Given the description of an element on the screen output the (x, y) to click on. 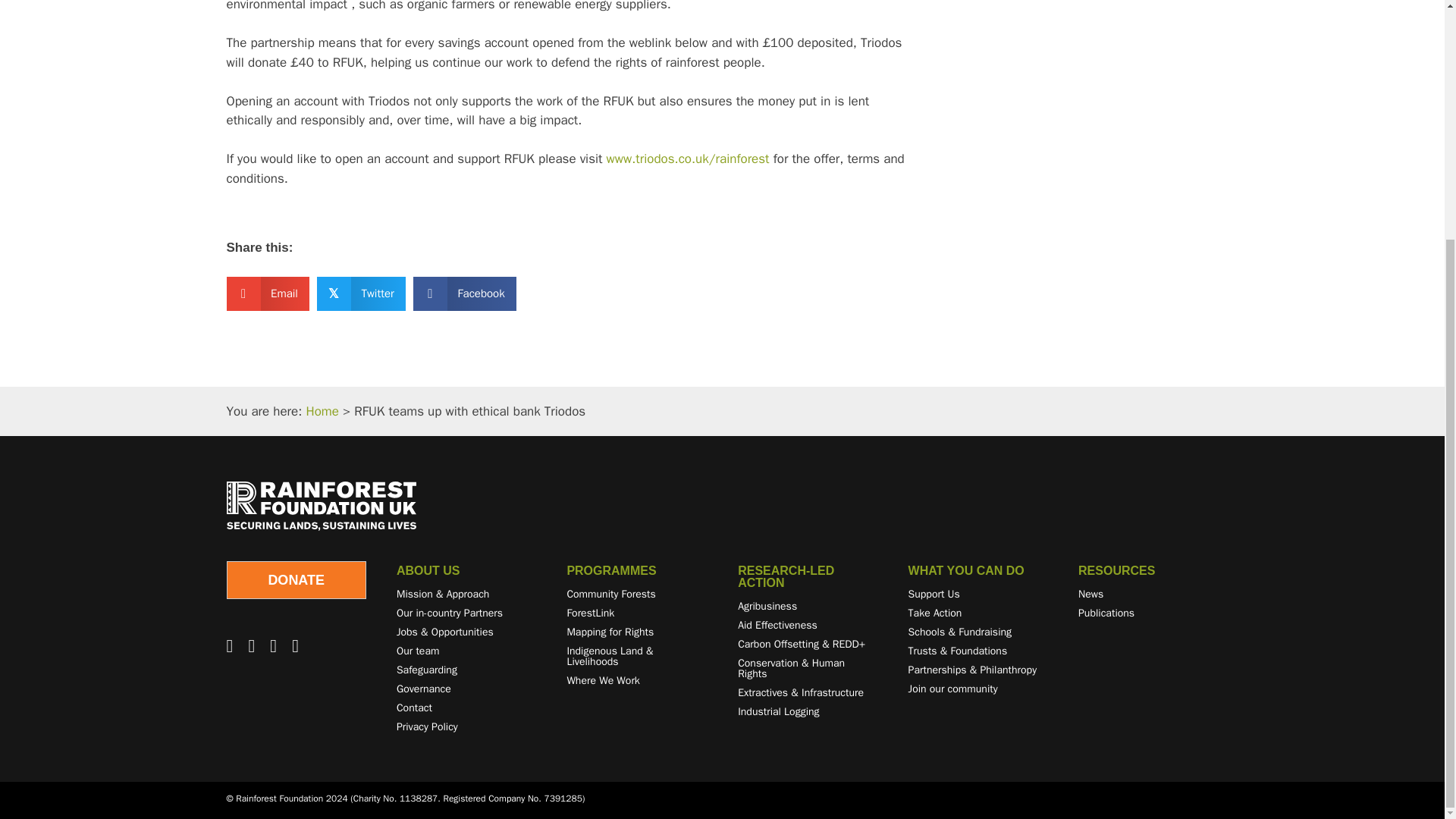
RFUK-logo-white (319, 505)
